Given the description of an element on the screen output the (x, y) to click on. 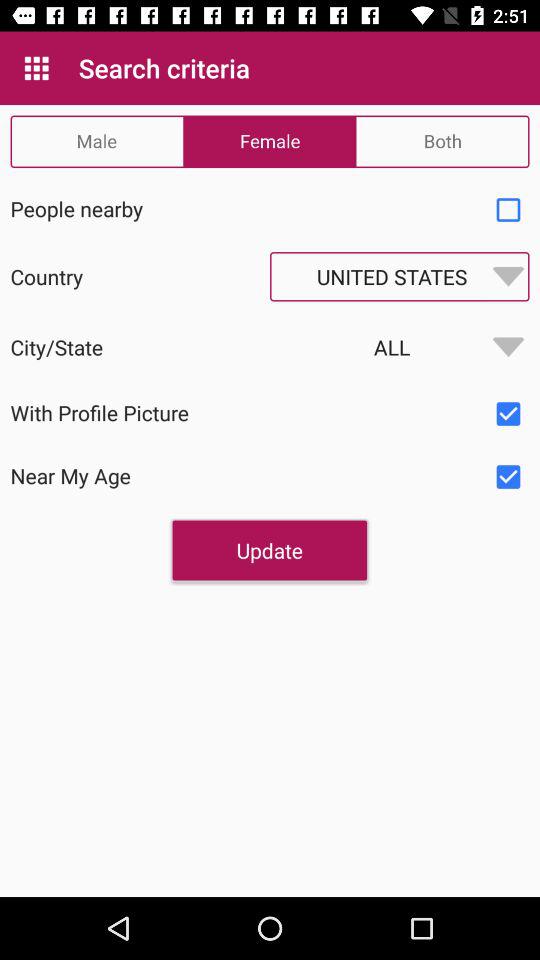
uncheck criteria (508, 477)
